Given the description of an element on the screen output the (x, y) to click on. 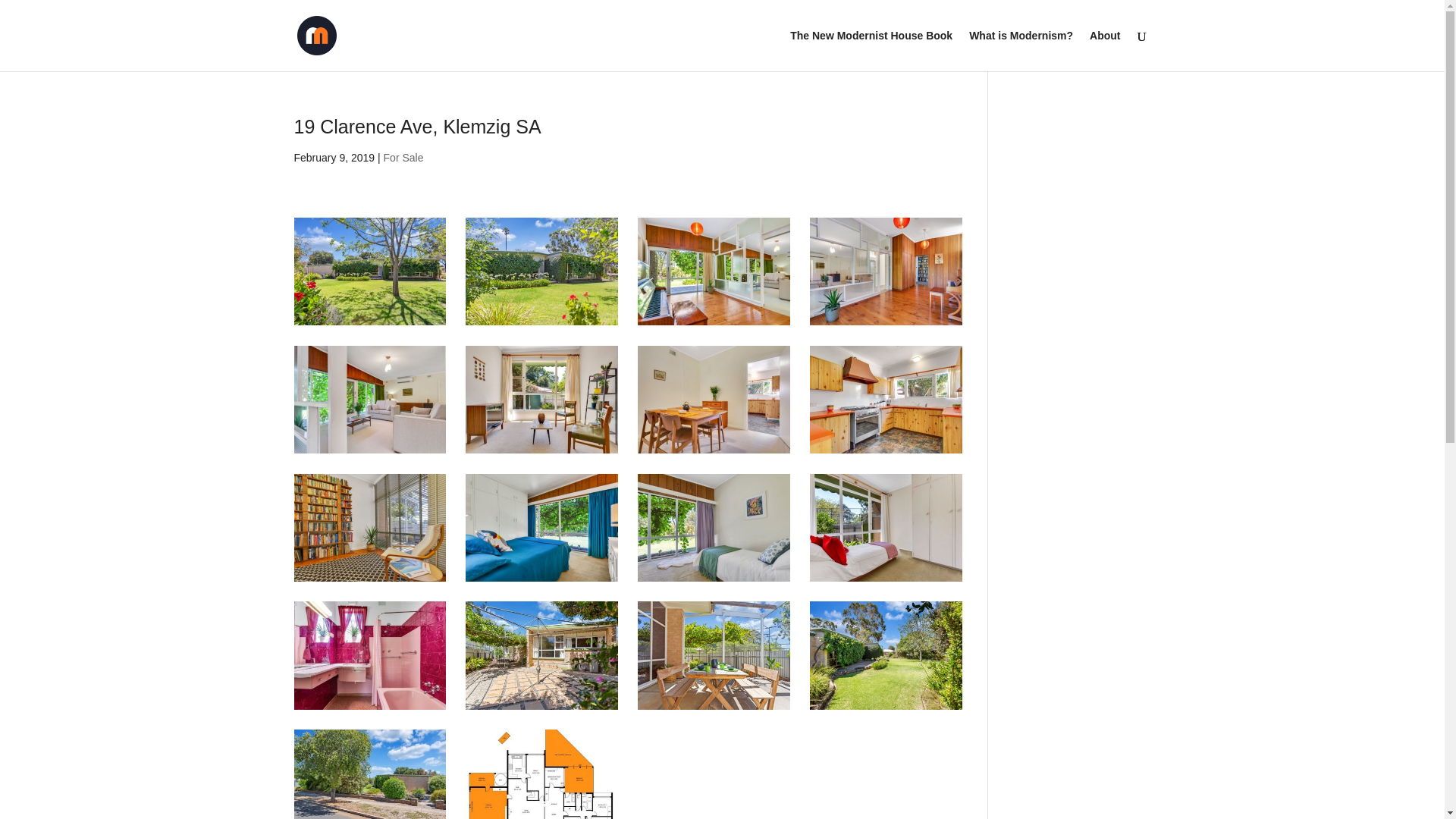
For Sale (403, 157)
The New Modernist House Book (871, 50)
What is Modernism? (1021, 50)
